Given the description of an element on the screen output the (x, y) to click on. 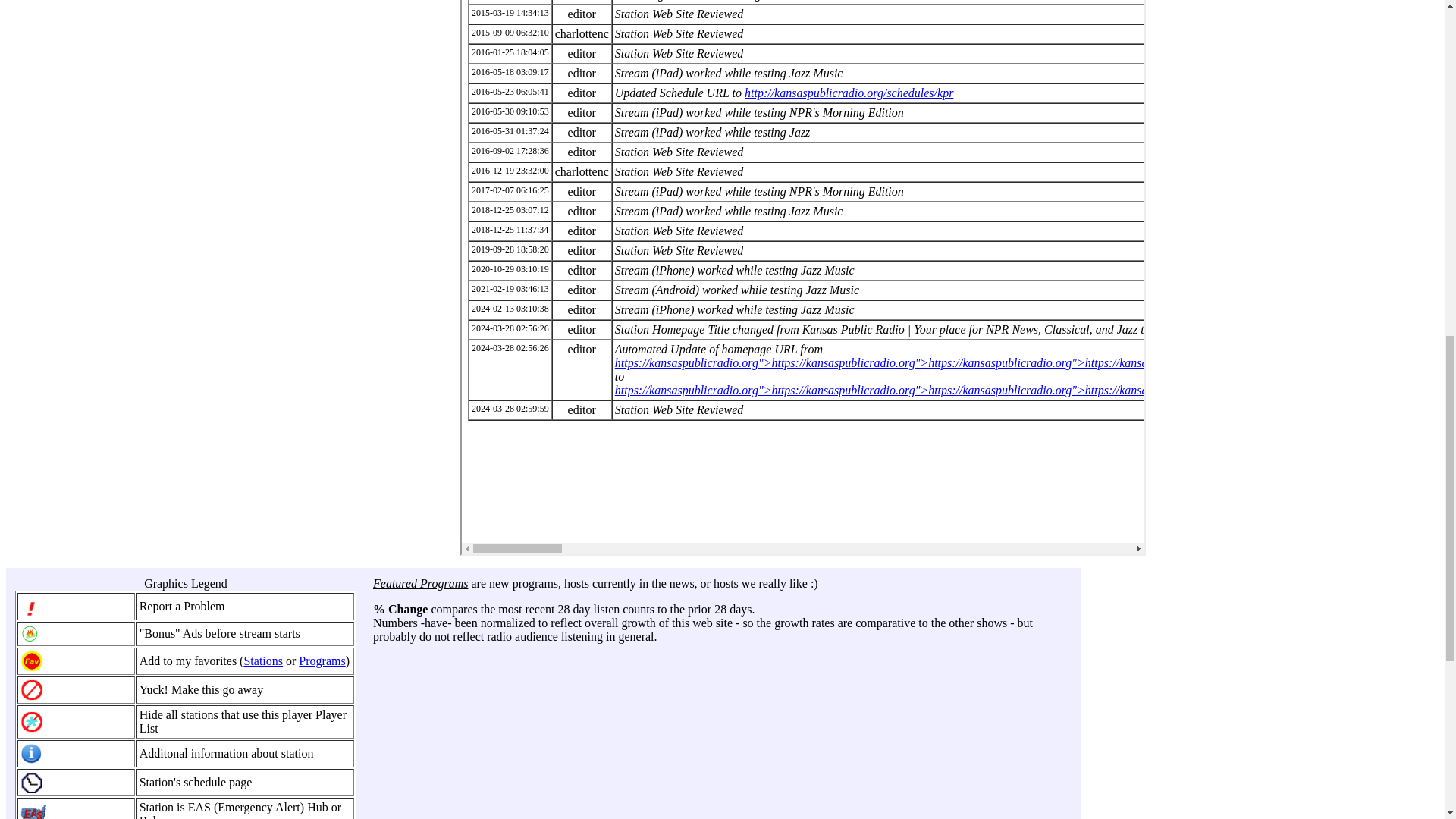
Stations (262, 660)
Programs (321, 660)
Player List (242, 721)
